Given the description of an element on the screen output the (x, y) to click on. 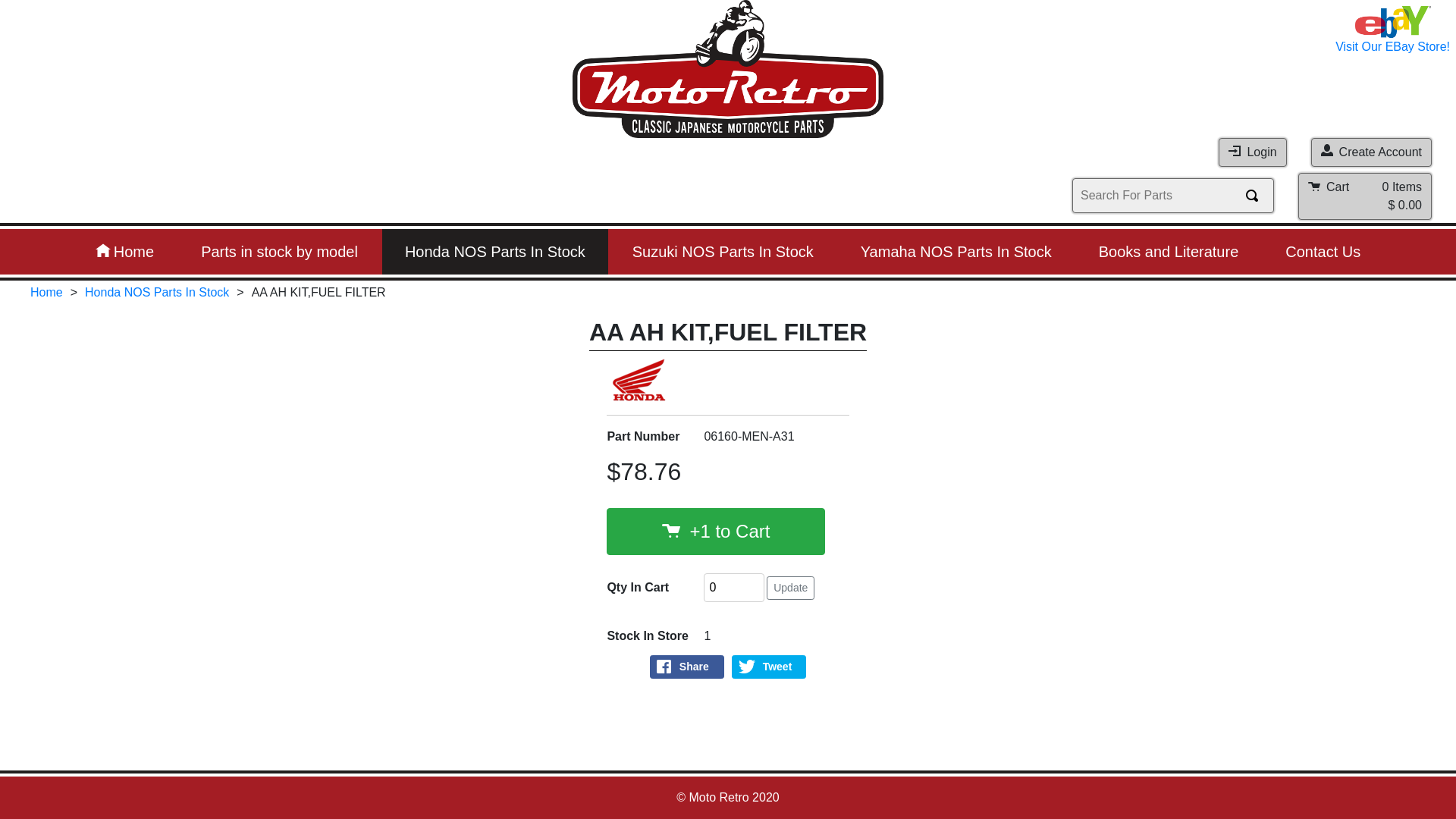
Visit Our EBay Store! Element type: text (1392, 31)
Share Element type: text (686, 666)
Create Account Element type: text (1371, 152)
Books and Literature Element type: text (1168, 251)
Suzuki NOS Parts In Stock Element type: text (722, 251)
Update Element type: text (790, 587)
Login Element type: text (1252, 152)
+1 to Cart Element type: text (715, 531)
Cart
0
0.00 Element type: text (1364, 195)
Home Element type: text (46, 291)
Honda NOS Parts In Stock Element type: text (156, 291)
Home Element type: text (124, 251)
Parts in stock by model Element type: text (279, 251)
Honda NOS Parts In Stock Element type: text (495, 251)
Yamaha NOS Parts In Stock Element type: text (955, 251)
Tweet Element type: text (768, 666)
Contact Us Element type: text (1322, 251)
